Given the description of an element on the screen output the (x, y) to click on. 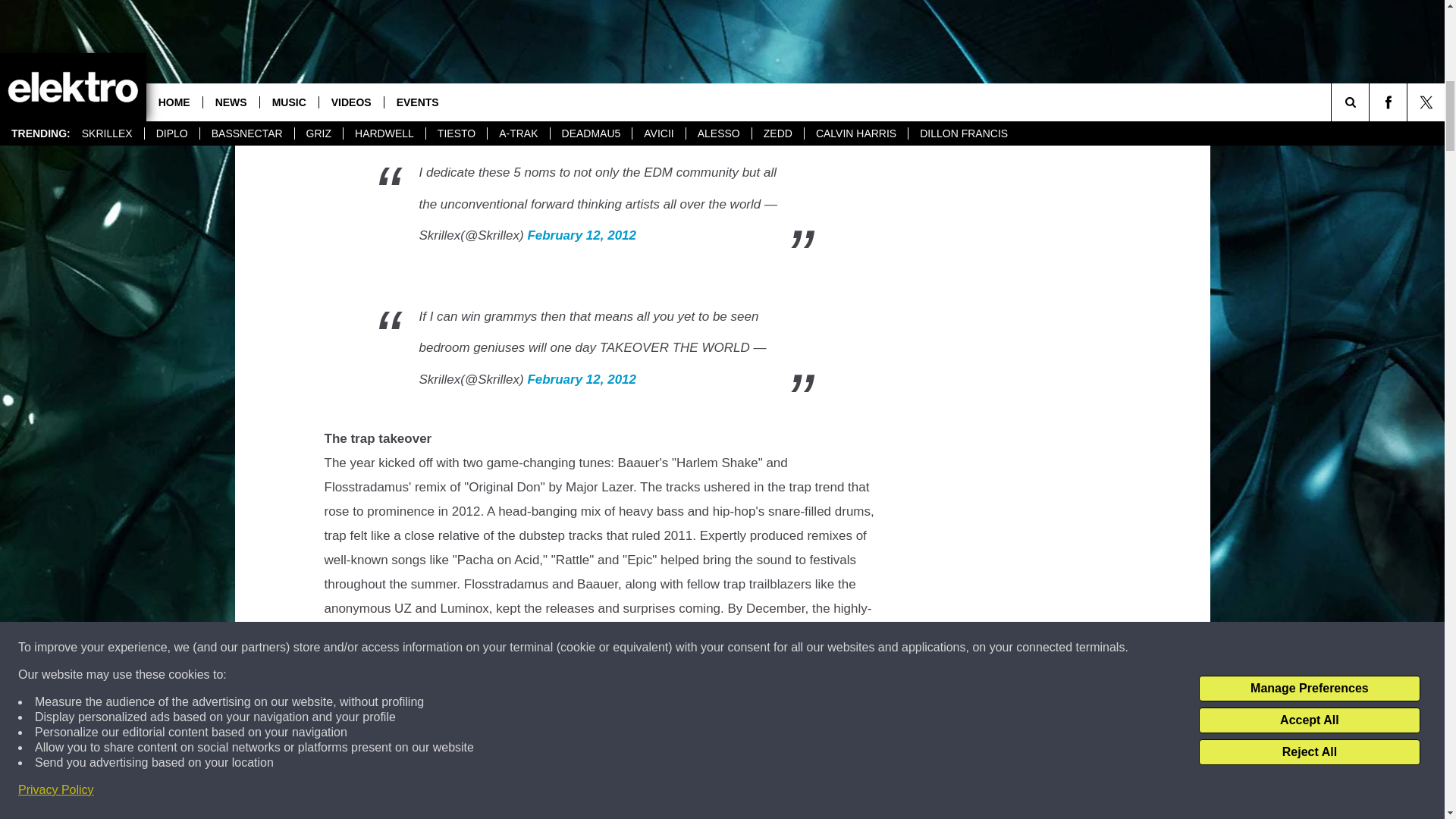
February 12, 2012 (581, 235)
